Given the description of an element on the screen output the (x, y) to click on. 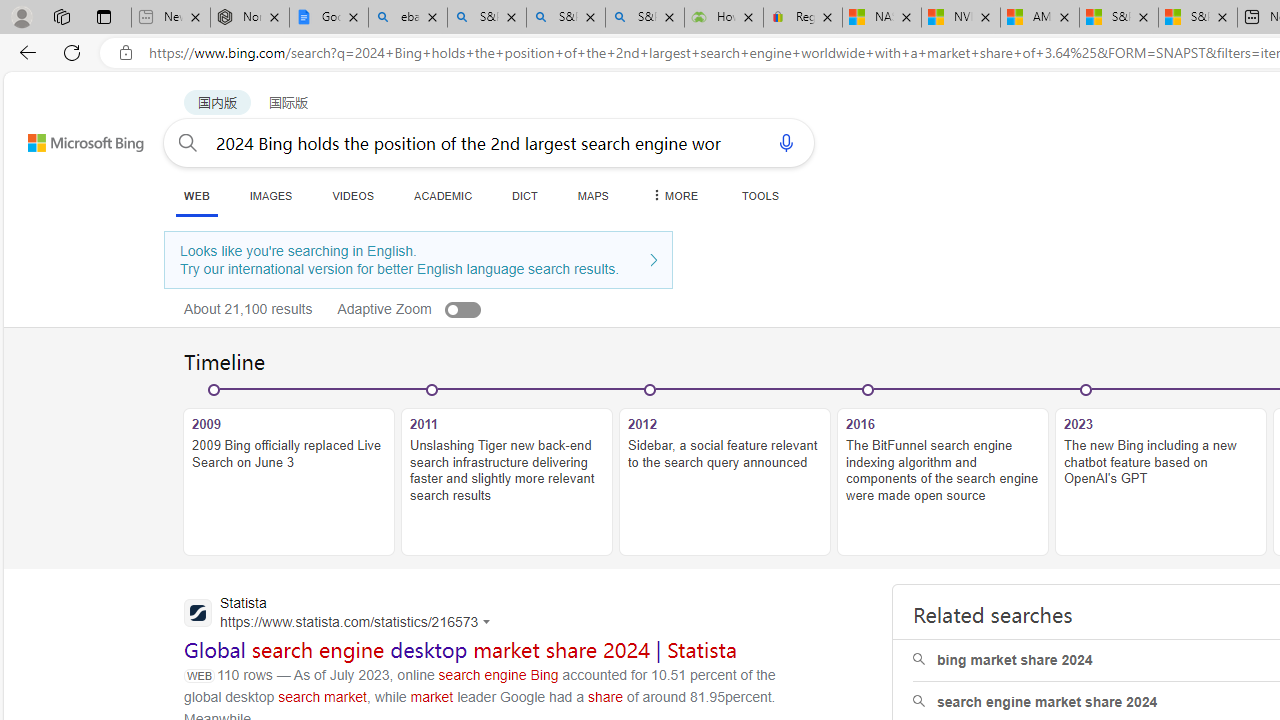
How the S&P 500 Performed During Major Market Crashes (723, 17)
S&P 500 index financial crisis decline - Search (644, 17)
MAPS (592, 195)
IMAGES (270, 195)
Back to Bing search (73, 138)
20092009 Bing officially replaced Live Search on June 3 (289, 471)
MAPS (592, 195)
DICT (525, 195)
WEB (196, 195)
